Given the description of an element on the screen output the (x, y) to click on. 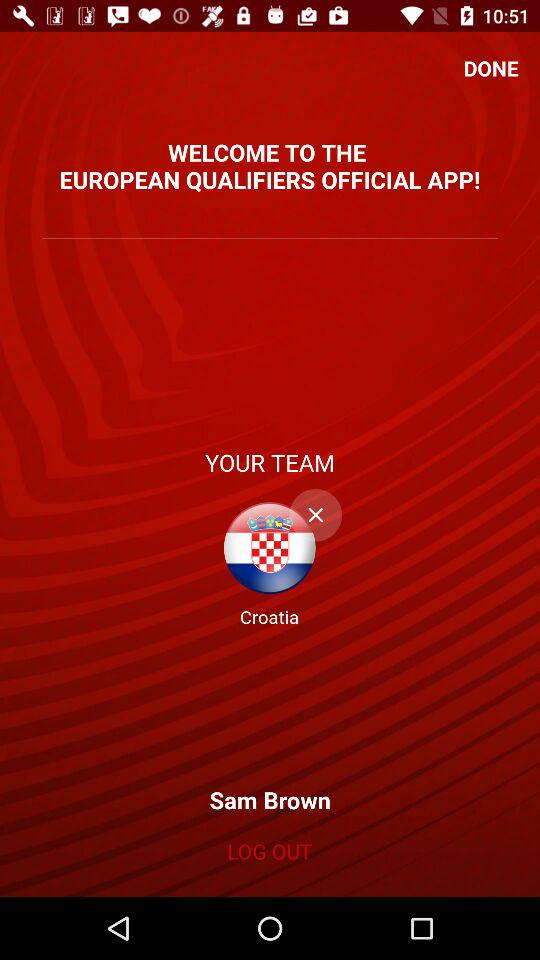
click log out icon (269, 851)
